Given the description of an element on the screen output the (x, y) to click on. 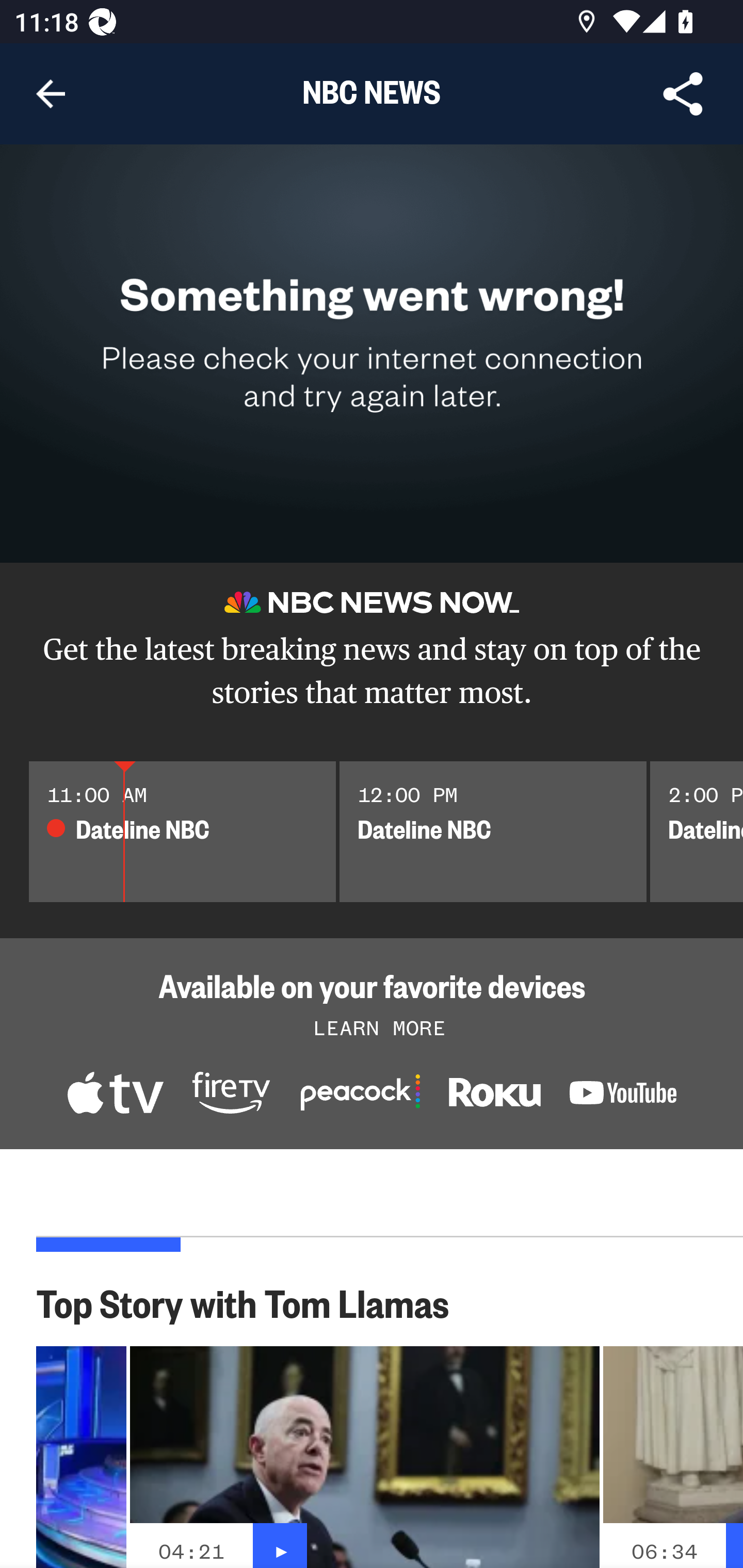
Navigate up (50, 93)
Share Article, button (683, 94)
1260802722430-NBC-News-Now (115, 1095)
B0055DL1G4 (231, 1095)
nbc-news (494, 1096)
nbcnews (622, 1095)
Top Story with Tom Llamas (253, 1301)
04:21  04:21 04:21 04:21  (364, 1456)
04:21 (190, 1551)
06:34 (664, 1551)
